Given the description of an element on the screen output the (x, y) to click on. 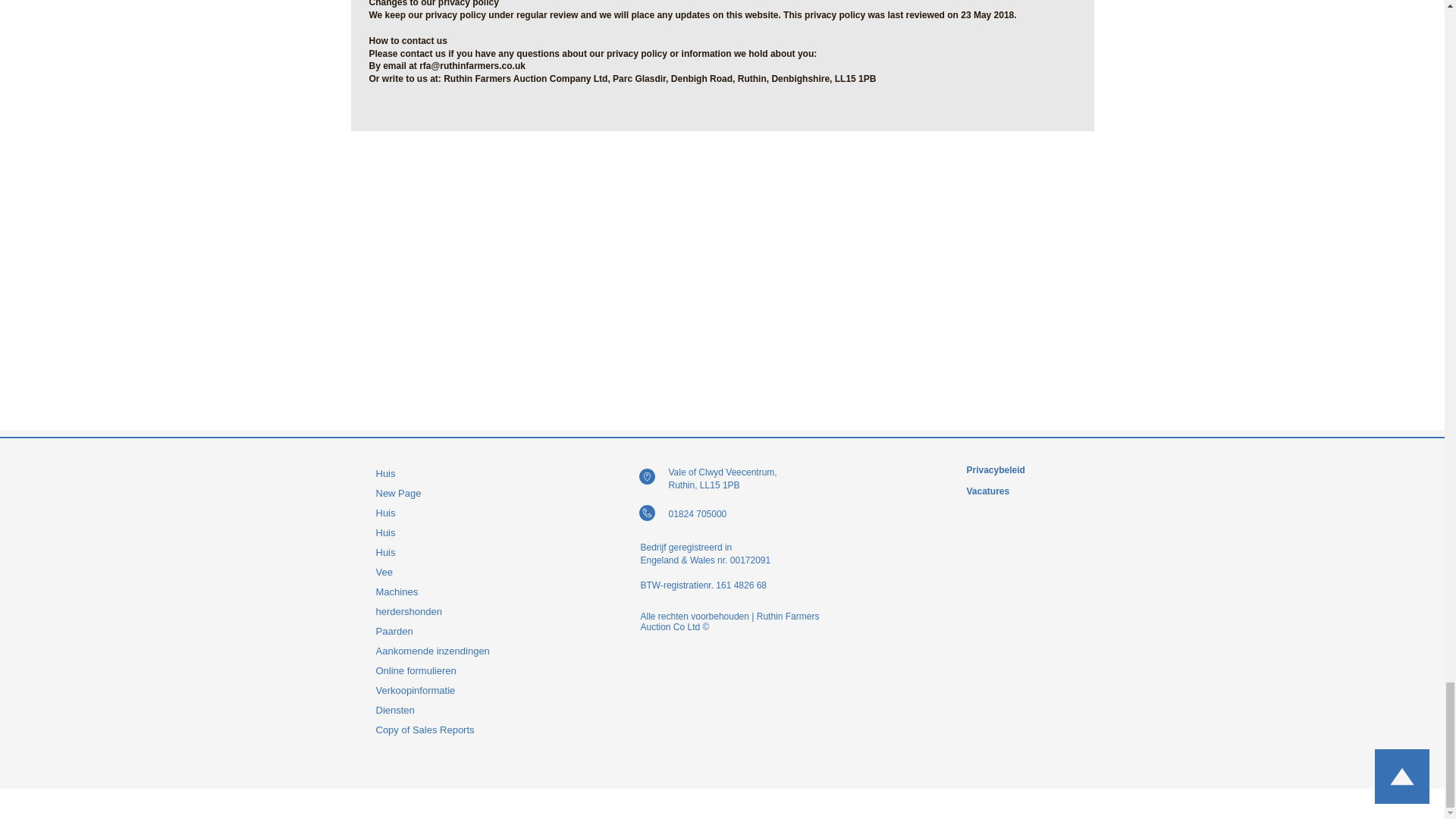
Huis (442, 552)
Huis (442, 474)
Huis (442, 532)
New Page (442, 493)
Huis (442, 513)
